Given the description of an element on the screen output the (x, y) to click on. 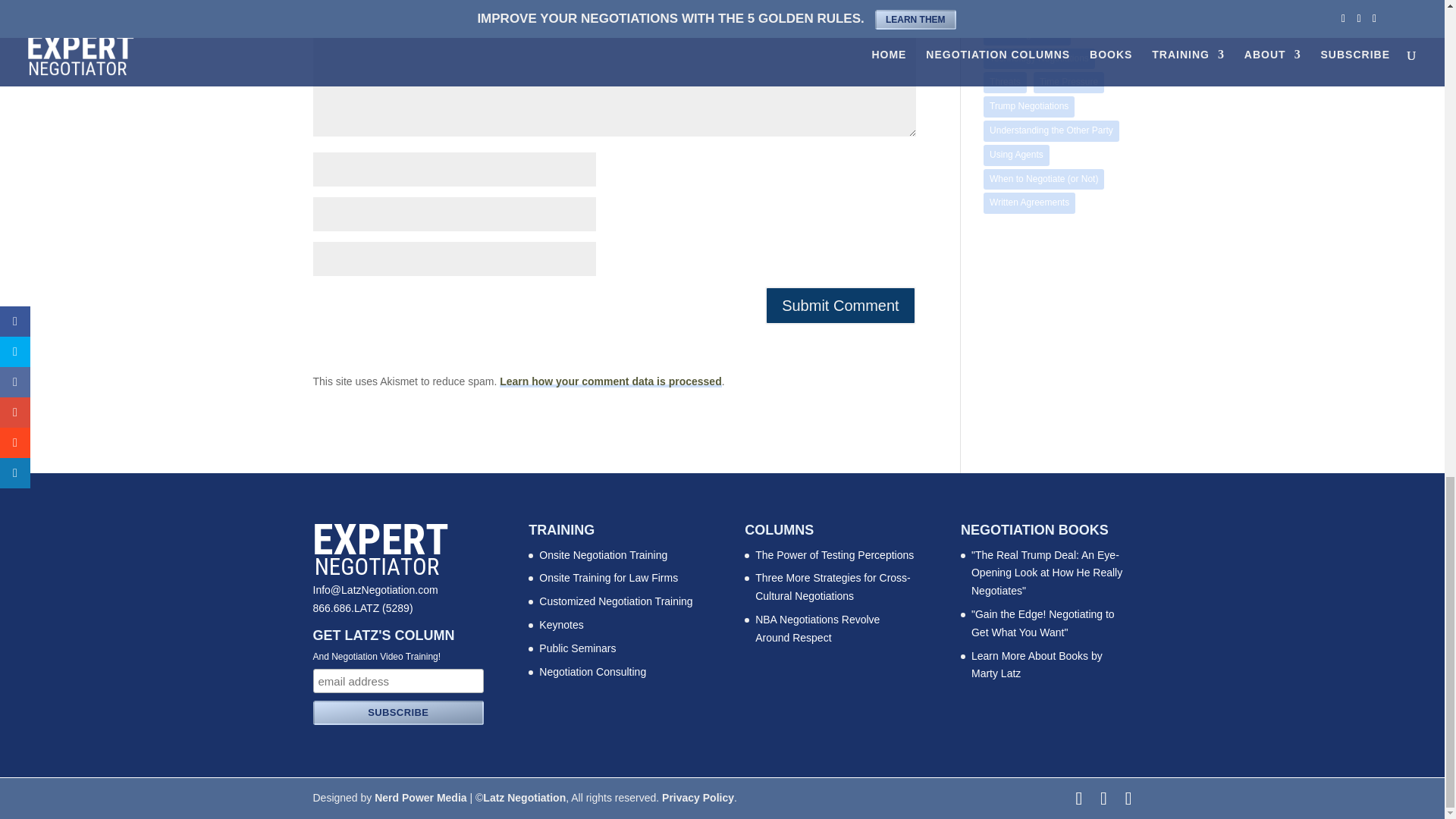
Subscribe (398, 712)
Submit Comment (840, 305)
Submit Comment (840, 305)
